Given the description of an element on the screen output the (x, y) to click on. 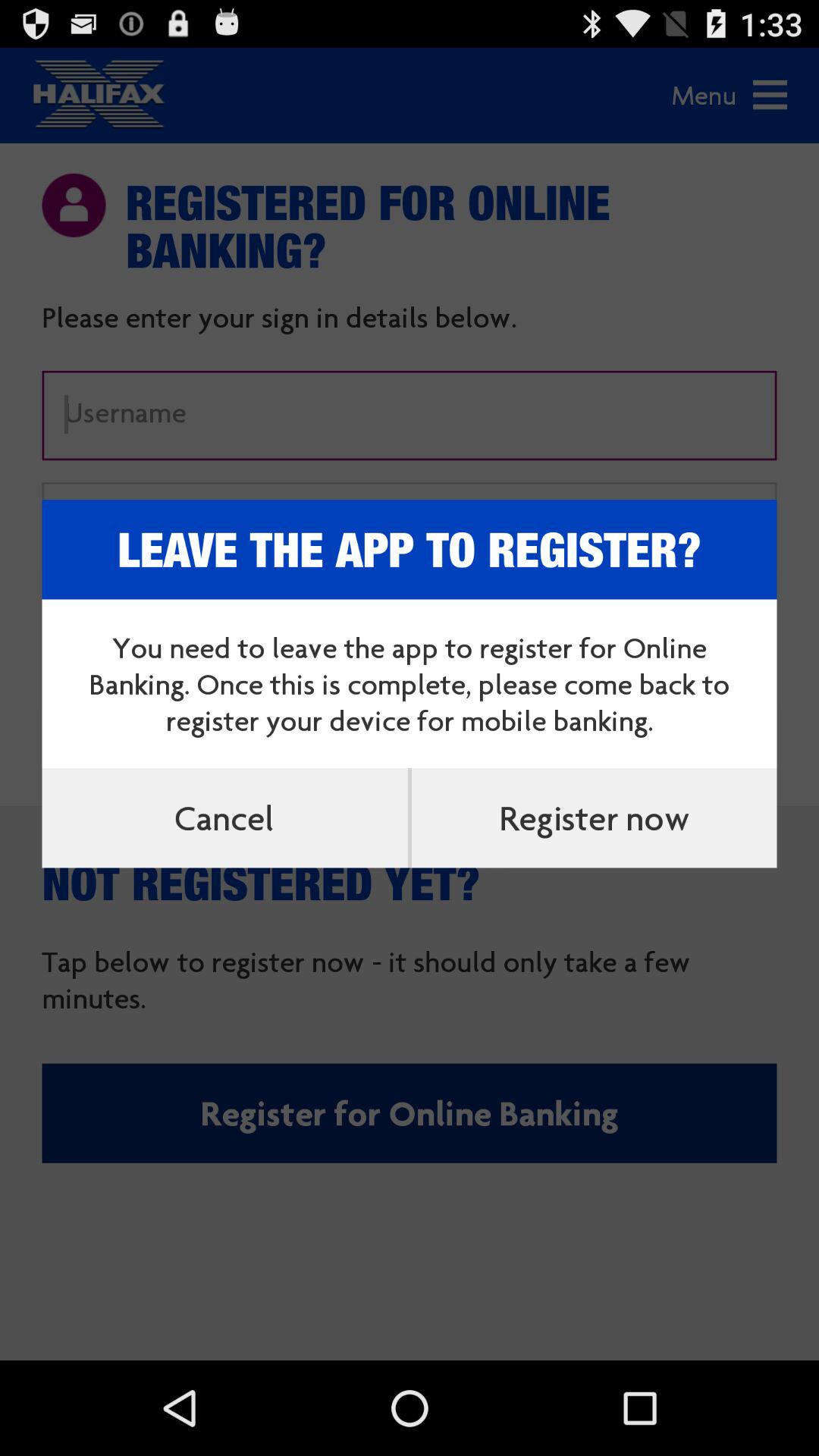
tap the cancel item (224, 817)
